Given the description of an element on the screen output the (x, y) to click on. 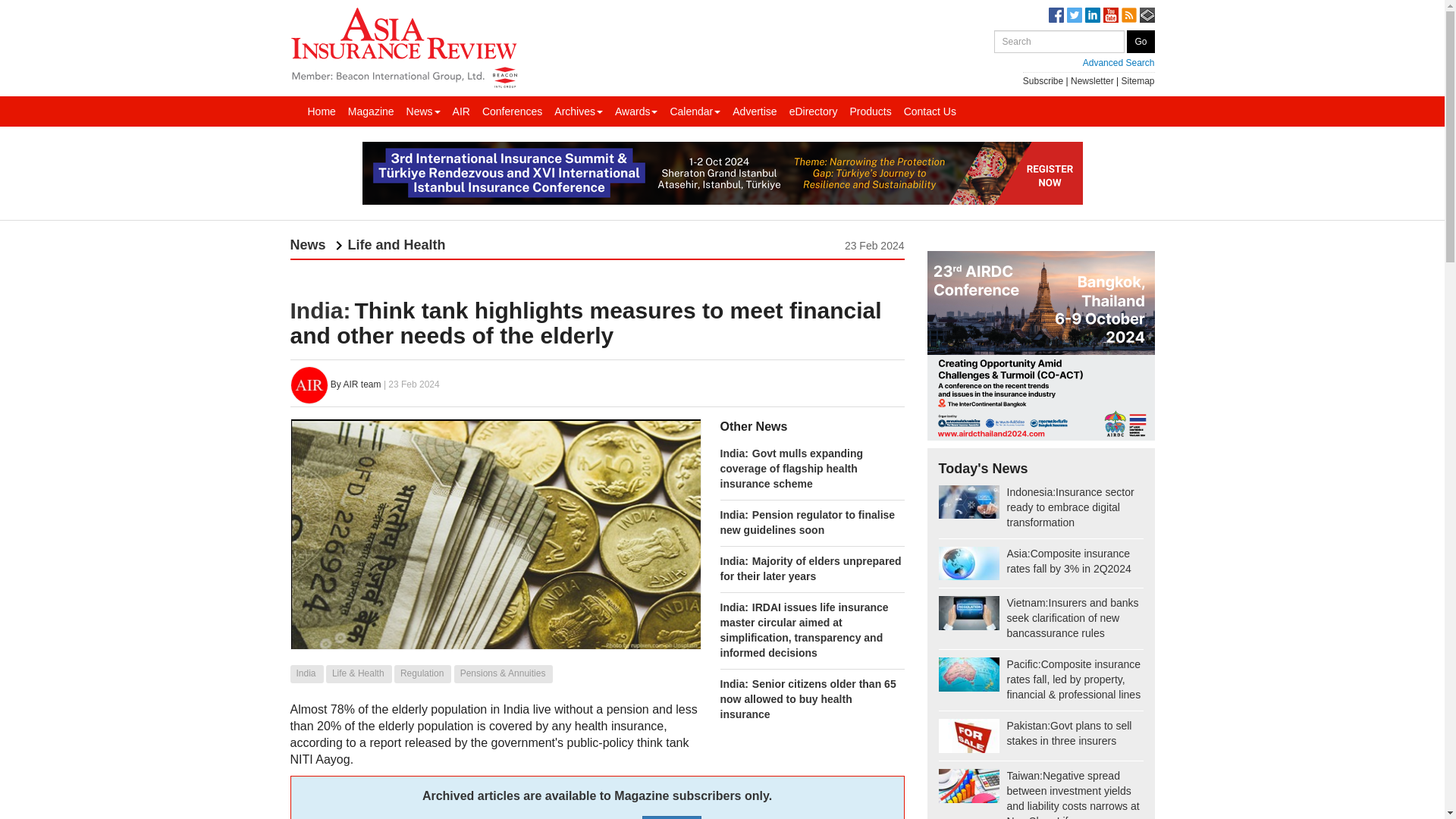
Sitemap (1137, 81)
Awards (635, 111)
Go (1140, 41)
Home (321, 111)
Magazine (371, 111)
Conferences (512, 111)
Archives (578, 111)
Go (1140, 41)
Login Now (671, 817)
Newsletter (1091, 81)
Asia Insurance Review (402, 45)
News (423, 111)
AIR (461, 111)
Advanced Search (1074, 62)
Subscribe (1042, 81)
